Given the description of an element on the screen output the (x, y) to click on. 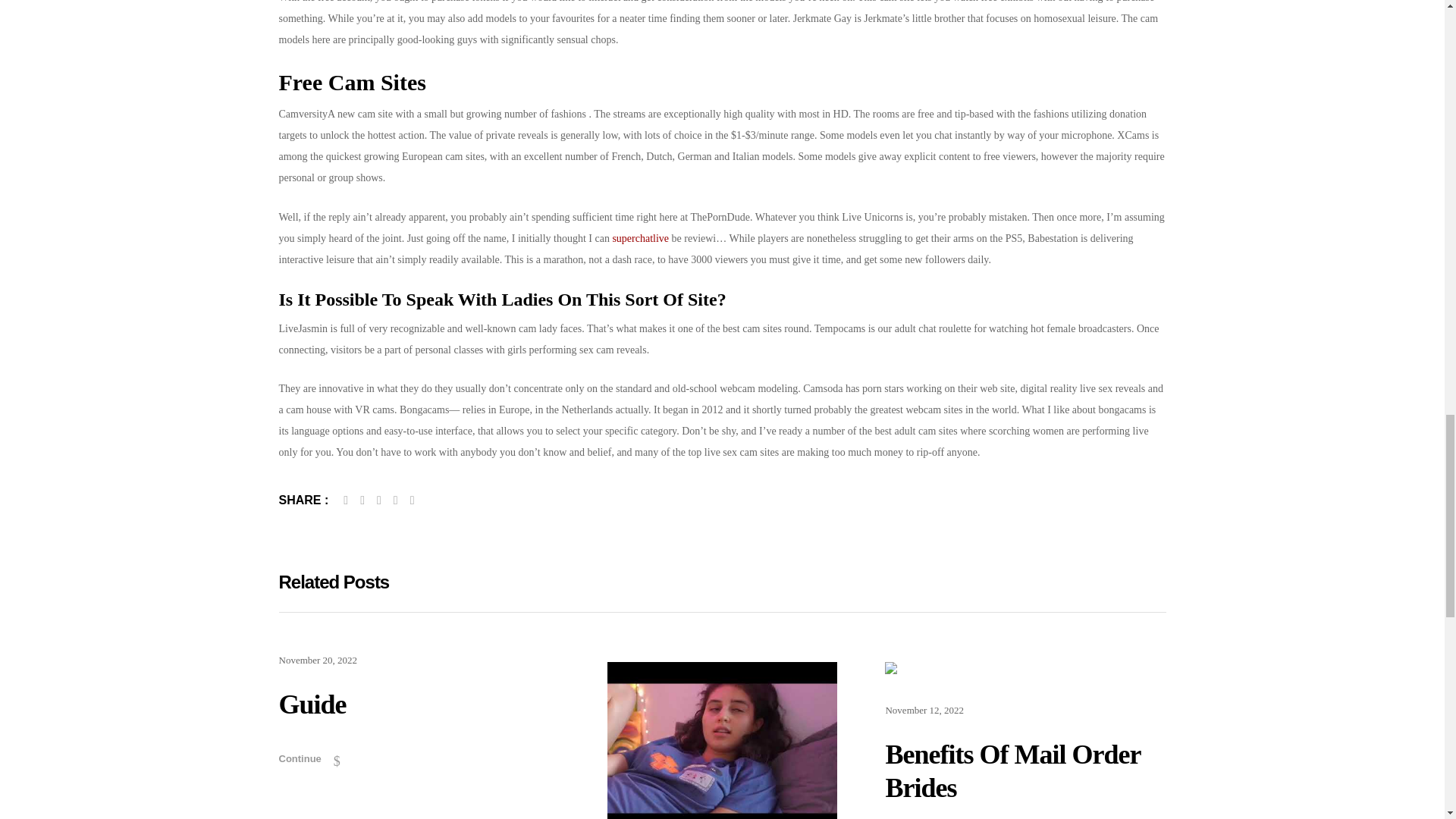
Continue (309, 758)
November 12, 2022 (924, 709)
superchatlive (639, 238)
Guide (419, 704)
November 20, 2022 (318, 659)
Benefits Of Mail Order Brides (1025, 770)
Discover The Best Cam Girls (362, 499)
